Given the description of an element on the screen output the (x, y) to click on. 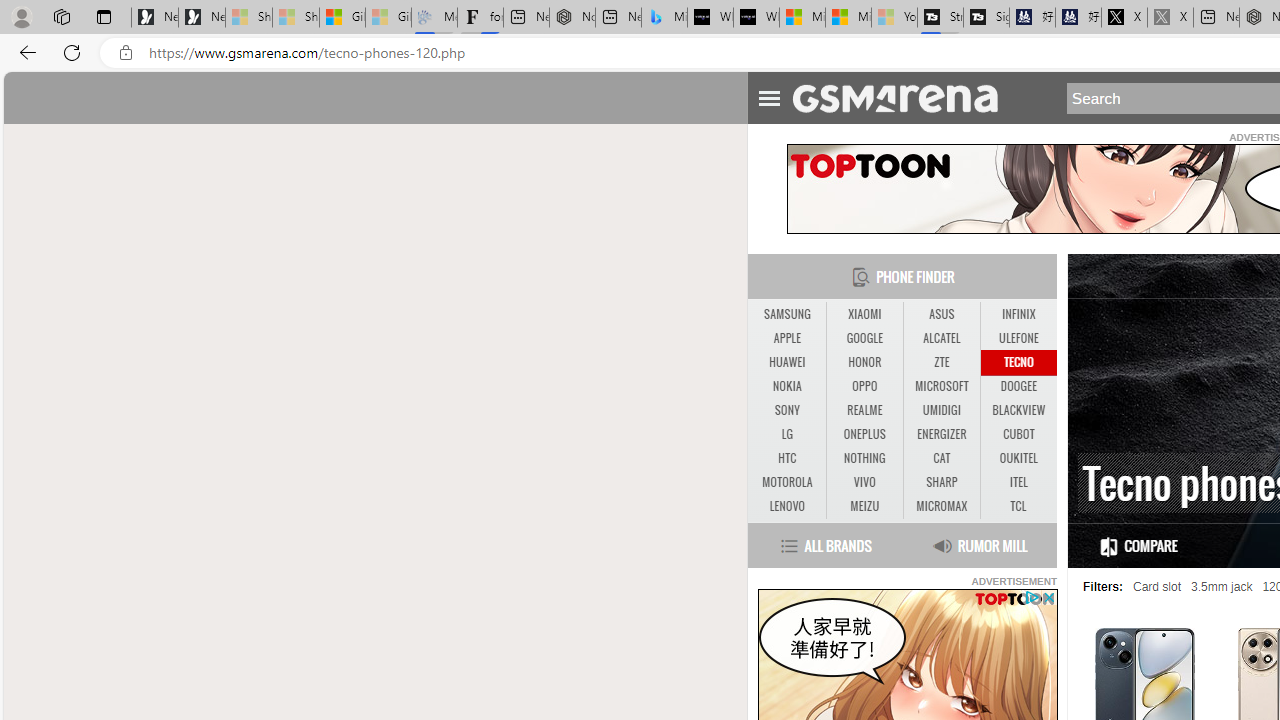
3.5mm jack (1222, 587)
BLACKVIEW (1018, 411)
MICROSOFT (941, 386)
TECNO (1018, 362)
Microsoft Start (848, 17)
ONEPLUS (864, 434)
Refresh (72, 52)
APPLE (786, 339)
VIVO (864, 483)
ULEFONE (1018, 338)
GOOGLE (864, 339)
MEIZU (863, 506)
